Given the description of an element on the screen output the (x, y) to click on. 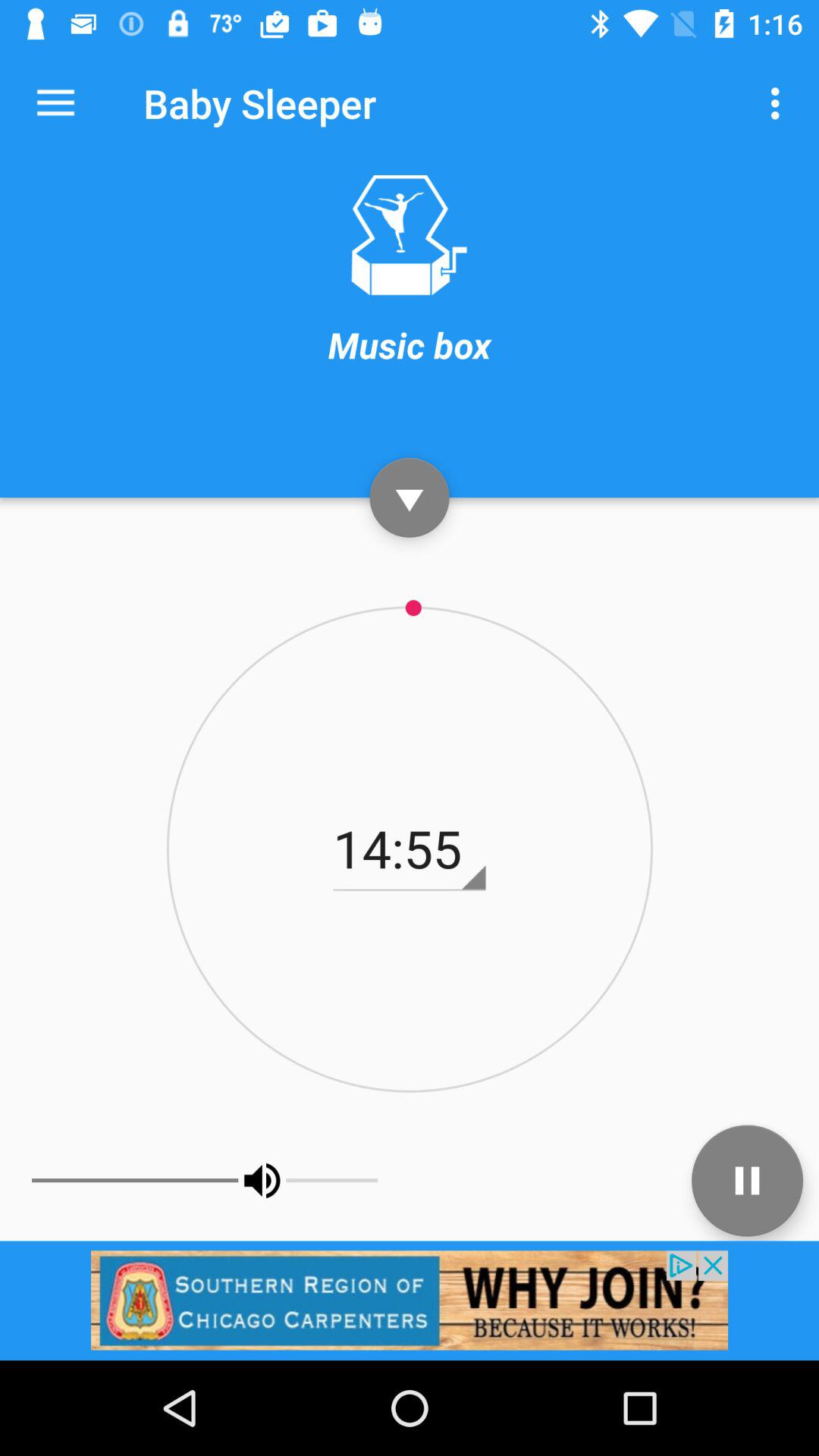
add banner (409, 1300)
